Given the description of an element on the screen output the (x, y) to click on. 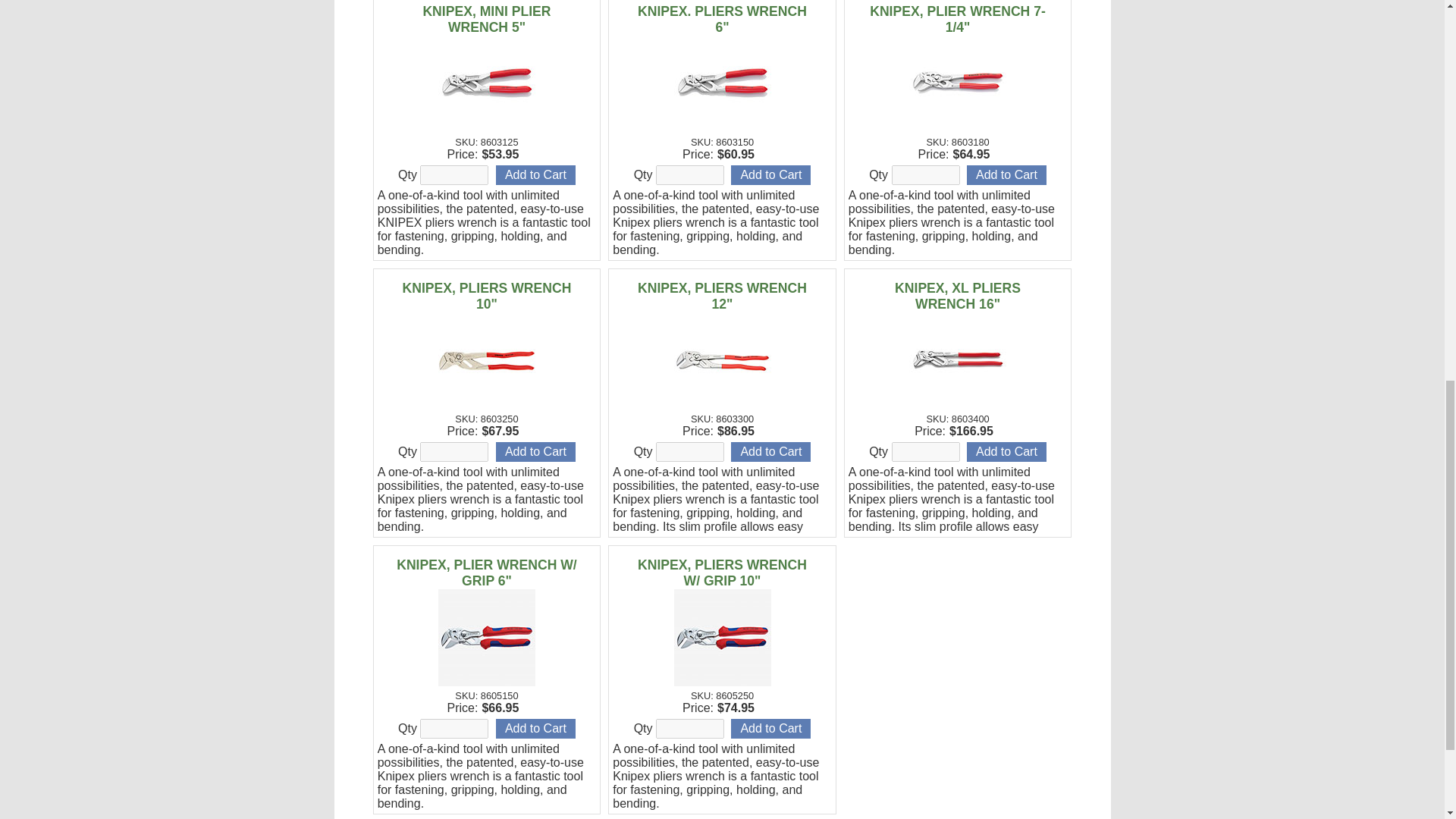
Add to Cart (770, 728)
Add to Cart (535, 451)
Add to Cart (1006, 175)
Add to Cart (770, 451)
Add to Cart (1006, 451)
Add to Cart (535, 728)
Add to Cart (770, 175)
Add to Cart (535, 175)
